Given the description of an element on the screen output the (x, y) to click on. 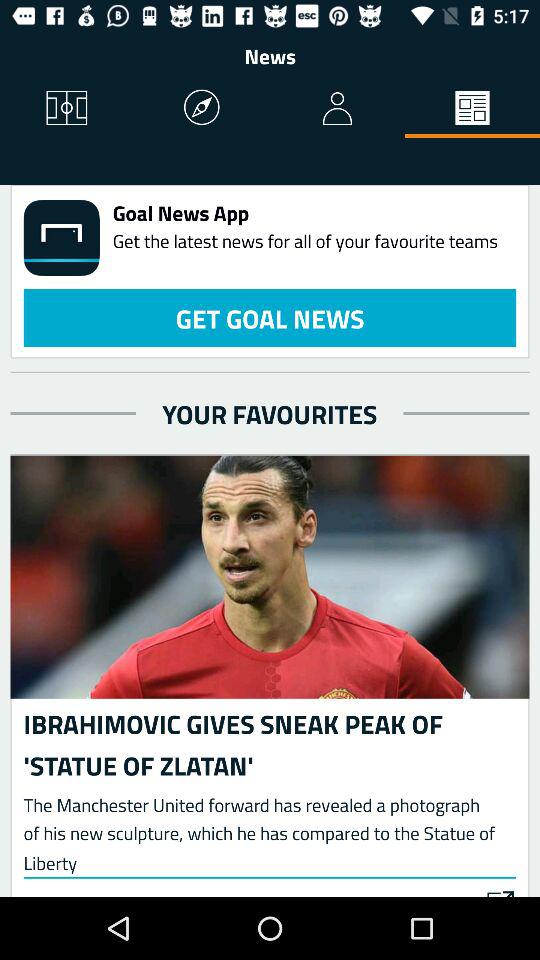
choose icon to the left of the news item (67, 108)
